Given the description of an element on the screen output the (x, y) to click on. 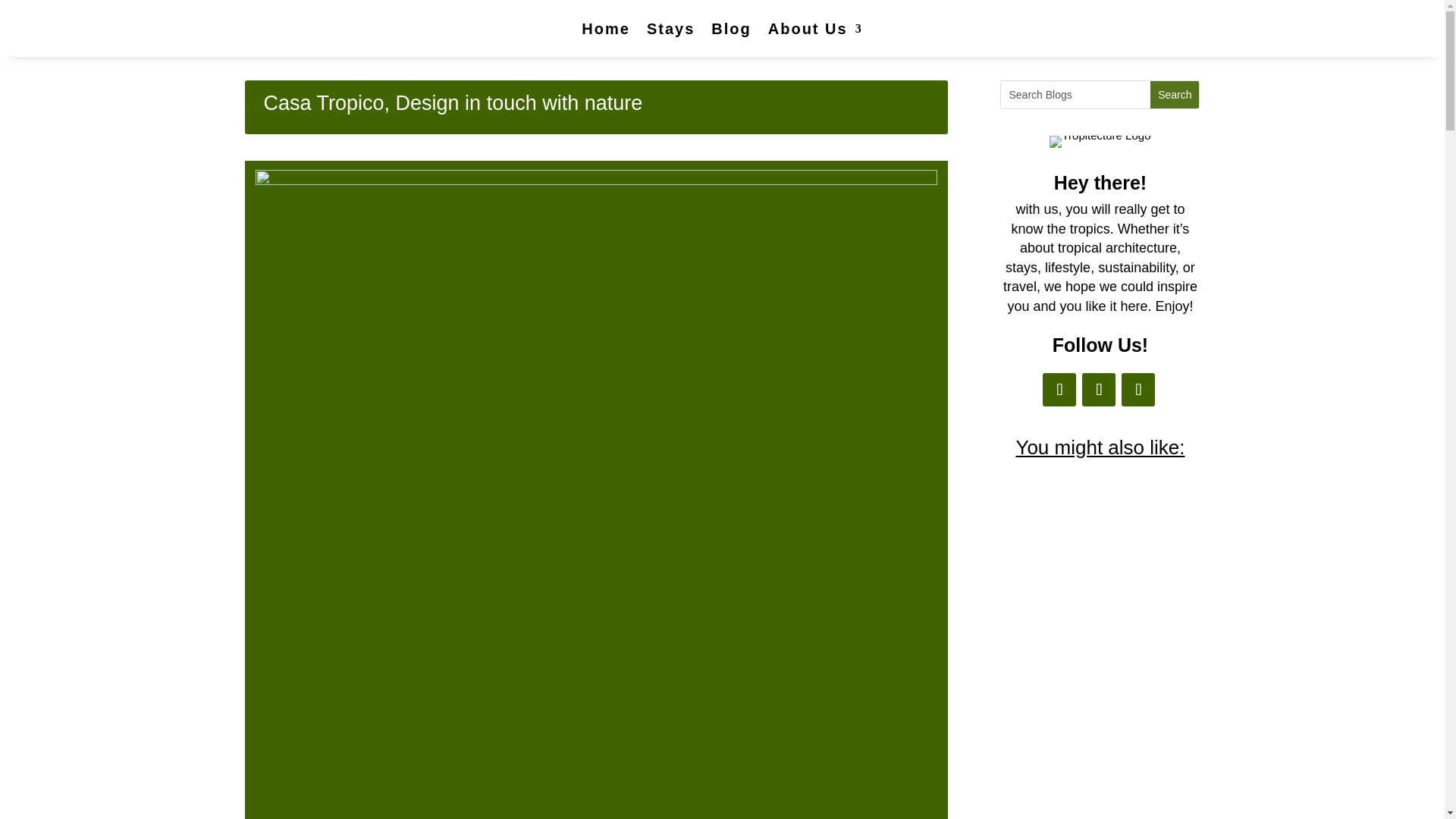
Search (1174, 94)
Search (1174, 94)
Follow on Youtube (1137, 389)
Follow on Pinterest (1098, 389)
Follow on Instagram (1058, 389)
cropped-image.png (1099, 141)
Search (1174, 94)
About Us (815, 28)
